Given the description of an element on the screen output the (x, y) to click on. 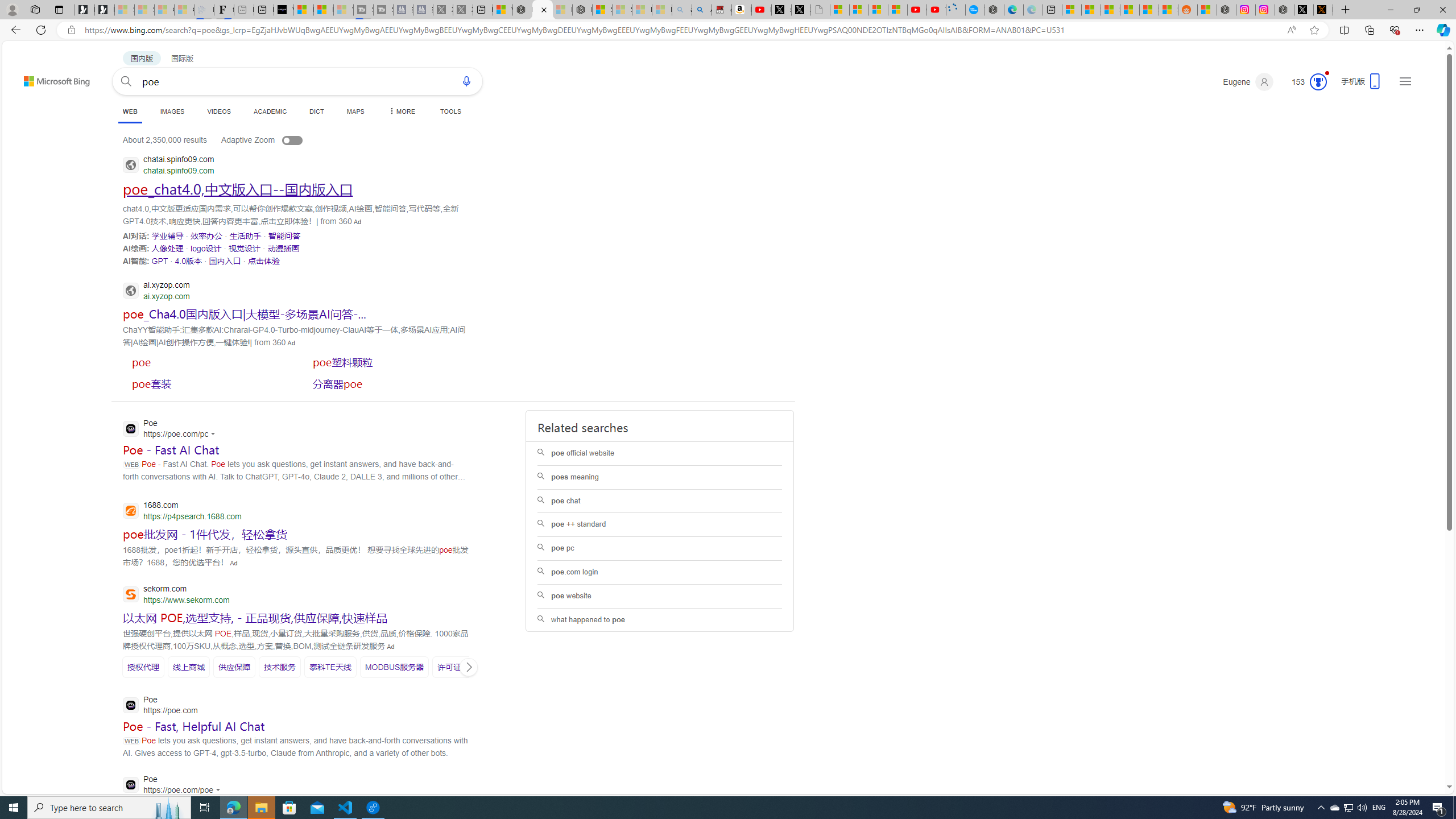
SERP,5596 (188, 666)
WEB (129, 111)
poe.com login (659, 572)
Dropdown Menu (400, 111)
SERP,5566 (167, 248)
SERP,5597 (234, 666)
help.x.com | 524: A timeout occurred (1323, 9)
amazon - Search - Sleeping (681, 9)
SERP,5601 (456, 667)
poe chat (659, 500)
SERP,5595 (143, 667)
Search using voice (465, 80)
